Given the description of an element on the screen output the (x, y) to click on. 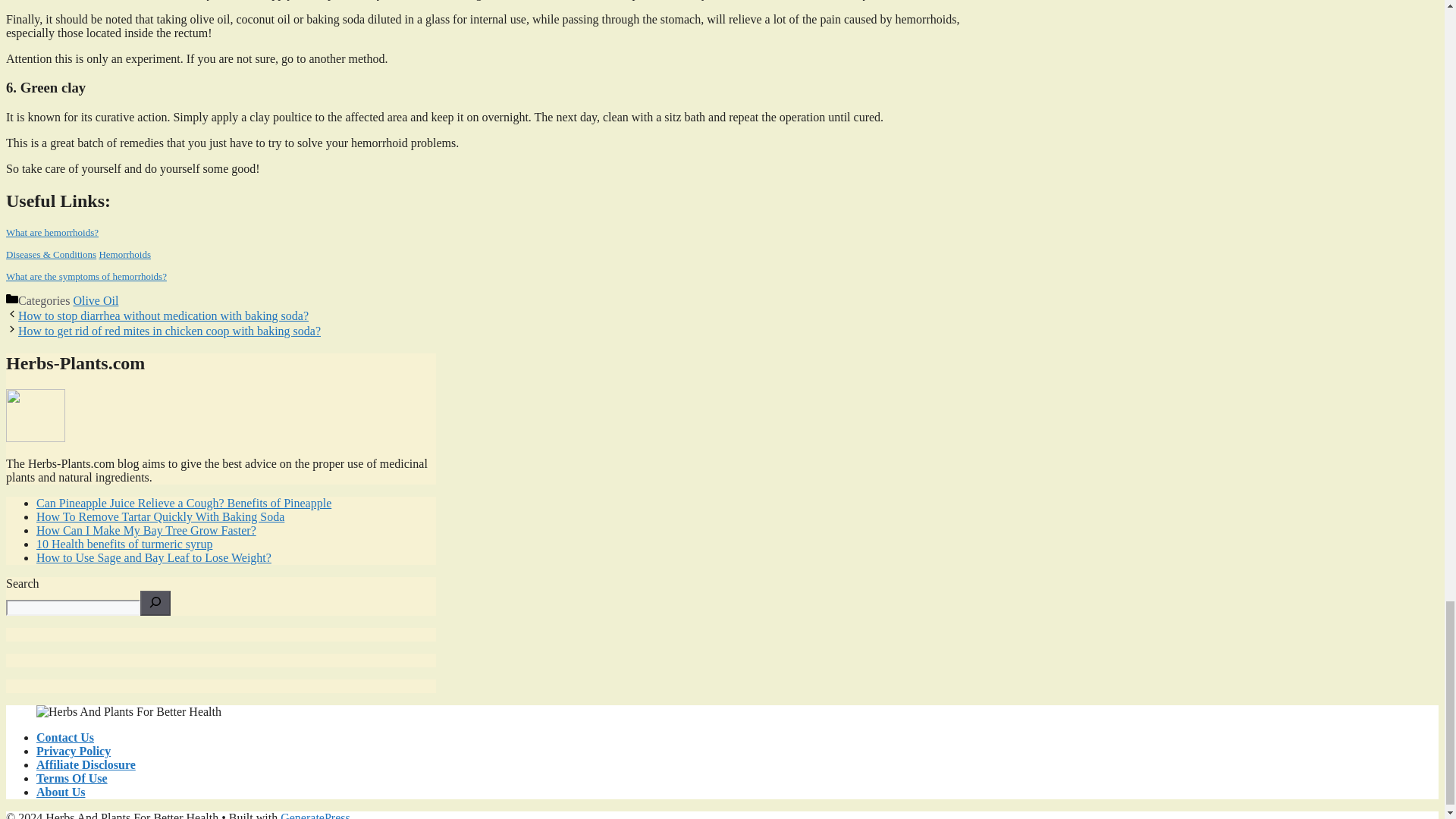
Contact Us (65, 737)
Olive Oil (94, 300)
How To Remove Tartar Quickly With Baking Soda (159, 516)
How Can I Make My Bay Tree Grow Faster? (146, 530)
How to Use Sage and Bay Leaf to Lose Weight? (153, 557)
Can Pineapple Juice Relieve a Cough? Benefits of Pineapple (183, 502)
About Us (60, 791)
Affiliate Disclosure (85, 764)
What are the symptoms of hemorrhoids? (86, 276)
